Given the description of an element on the screen output the (x, y) to click on. 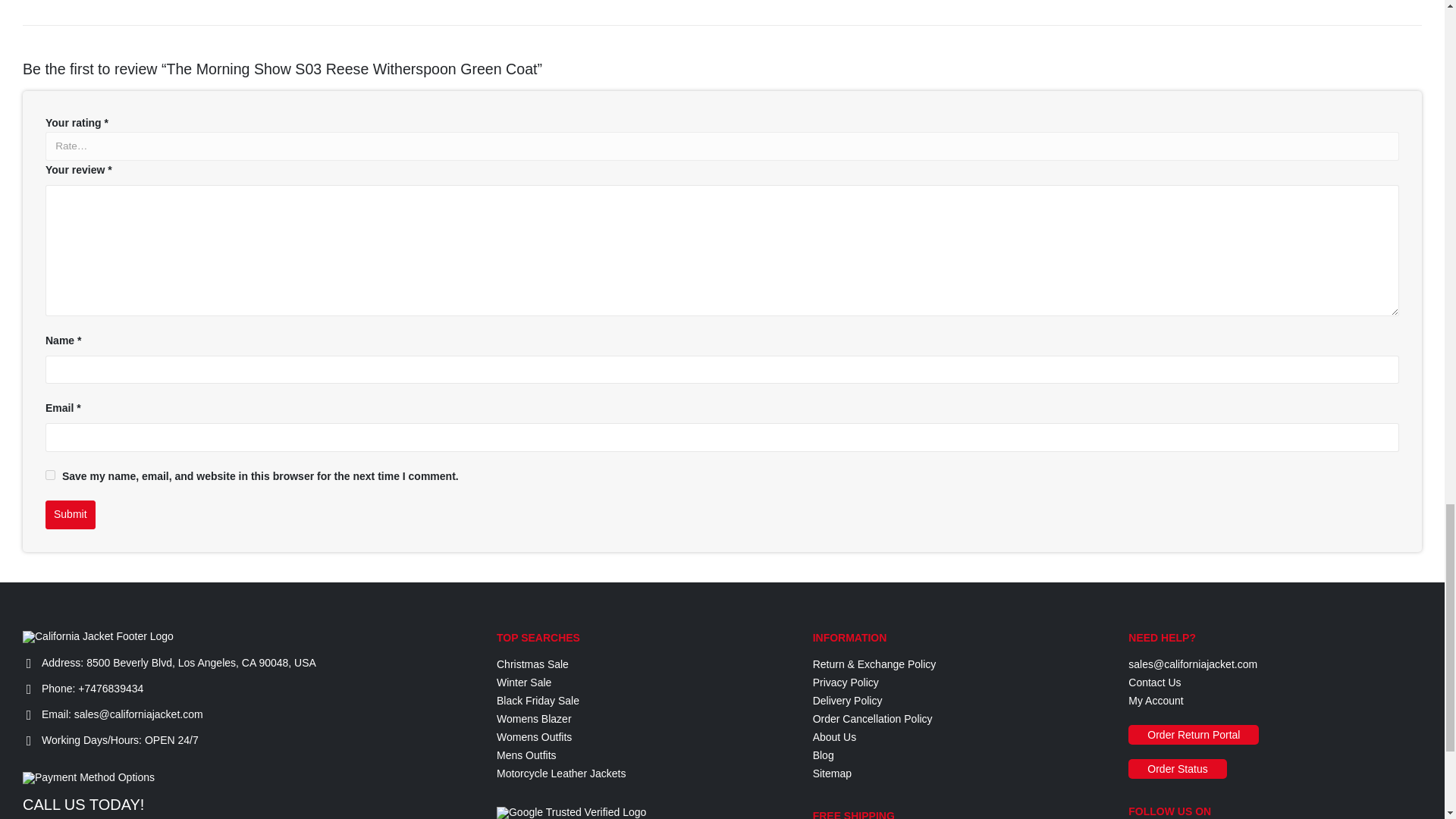
Black Friday Sale (537, 700)
Submit (70, 514)
Winter Sale (523, 682)
Womens Outfits (534, 736)
Black Friday Sale (537, 700)
Christmas Sale (532, 664)
Winter Sale (523, 682)
yes (50, 474)
Submit (70, 514)
Christmas Sale Collection (532, 664)
